Given the description of an element on the screen output the (x, y) to click on. 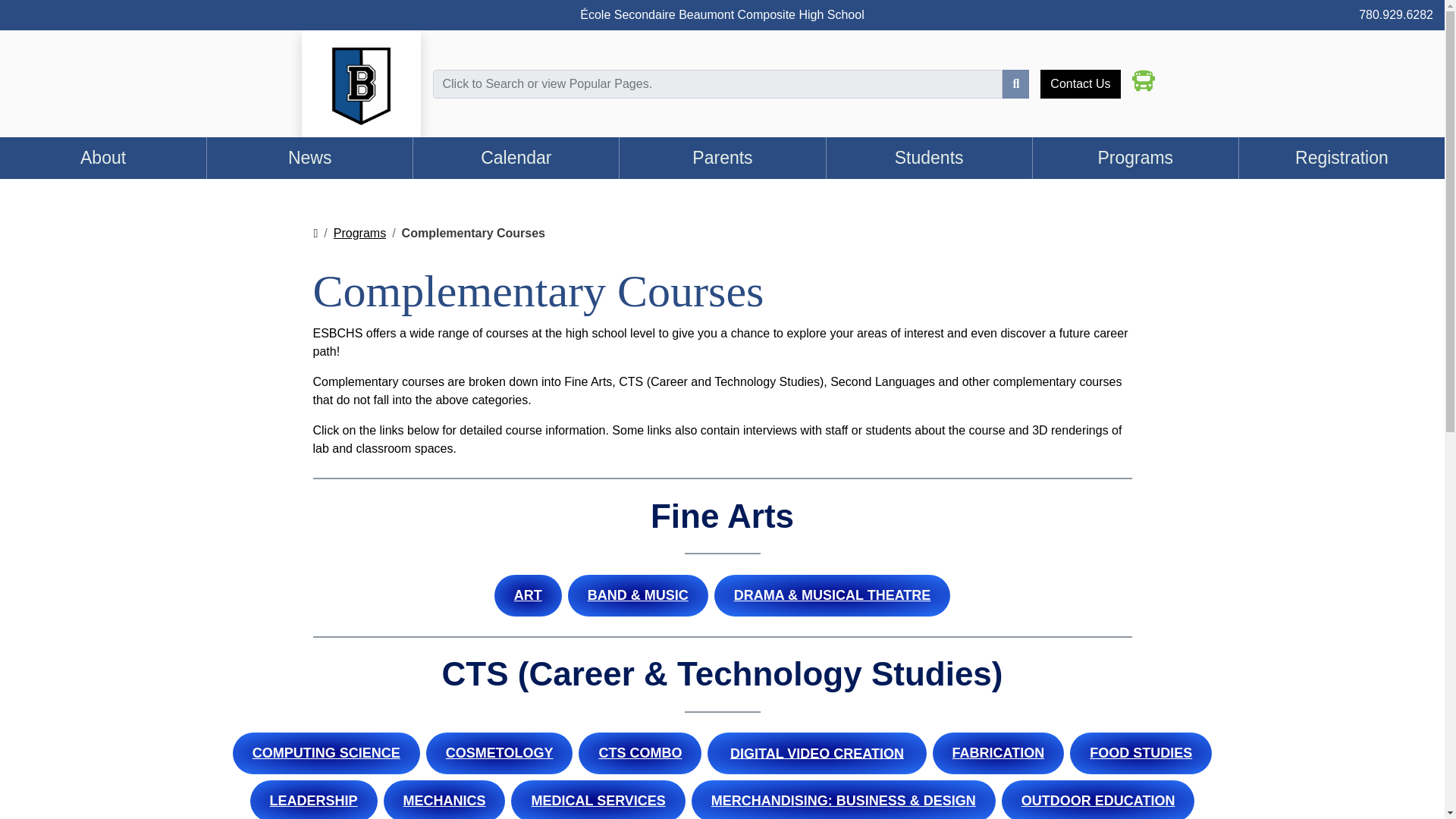
Programs (359, 232)
Students (928, 158)
News (309, 158)
Calendar (515, 158)
About (103, 158)
Contact Us (1080, 83)
Complementary Courses (472, 232)
Parents (721, 158)
